Given the description of an element on the screen output the (x, y) to click on. 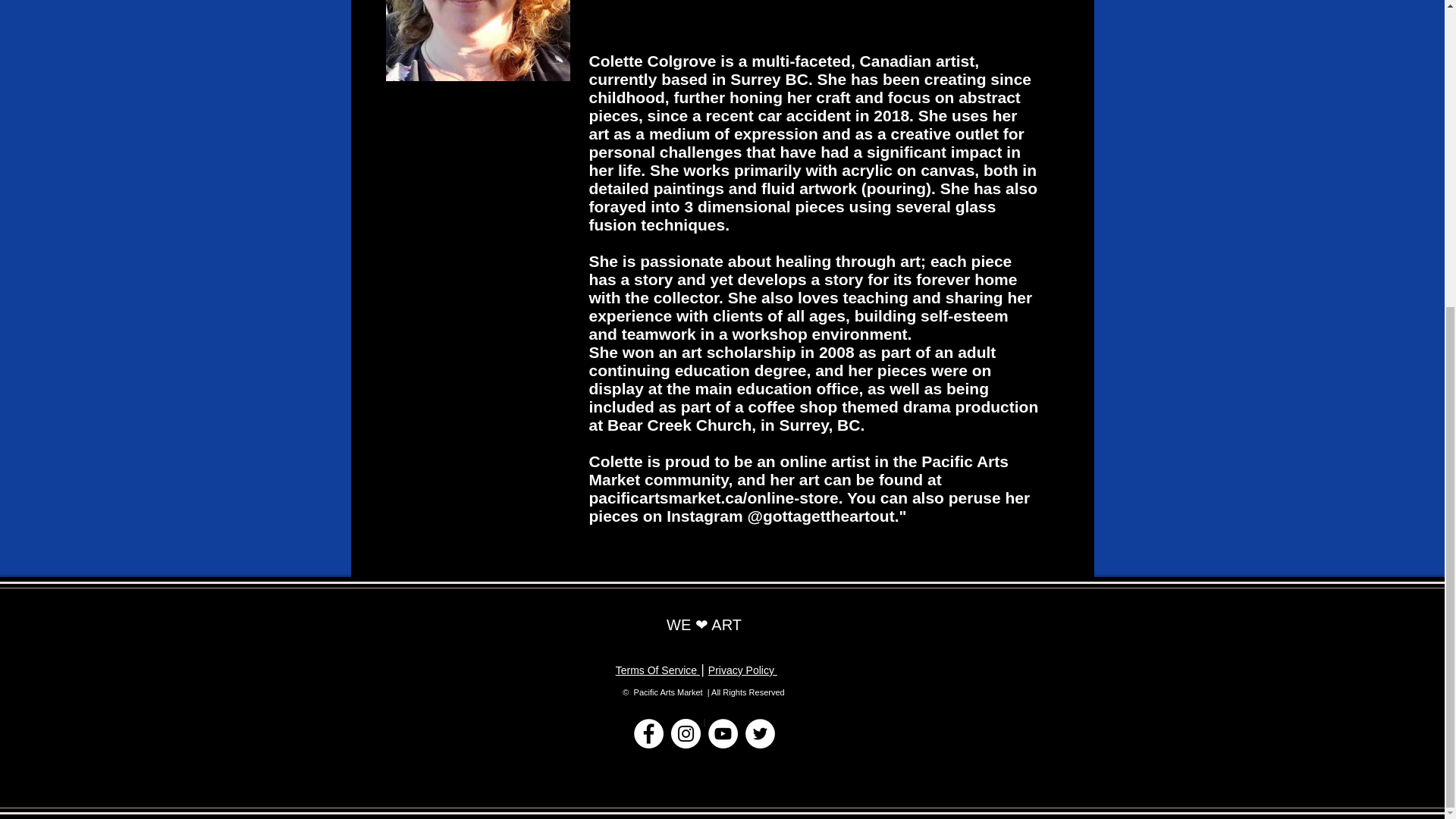
Terms Of Service (657, 670)
Privacy Policy  (742, 670)
Thumbnail.jpg (477, 40)
